Given the description of an element on the screen output the (x, y) to click on. 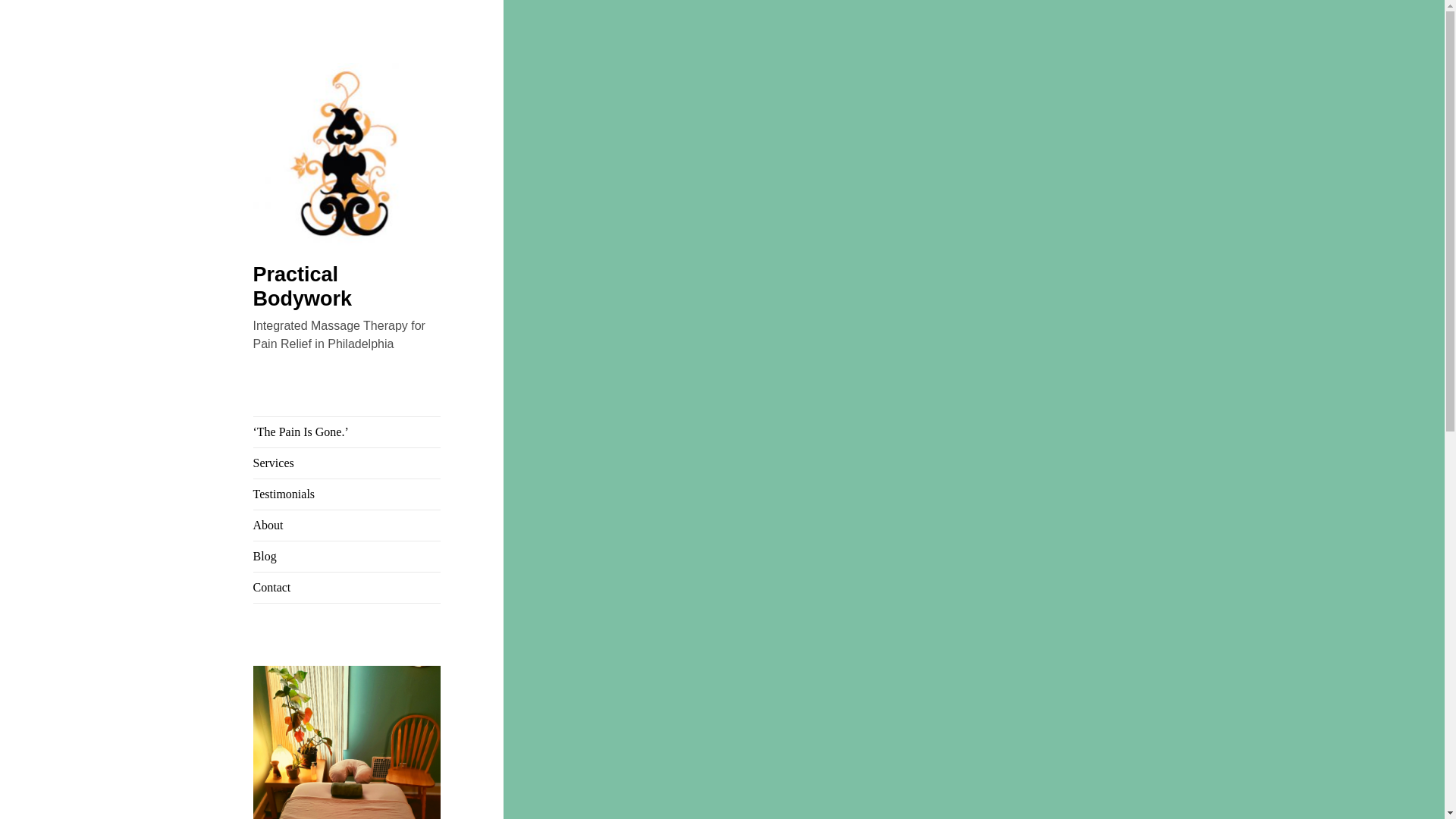
Contact (347, 587)
Practical Bodywork (302, 286)
Blog (347, 556)
Testimonials (347, 494)
About (347, 525)
Services (347, 462)
